Given the description of an element on the screen output the (x, y) to click on. 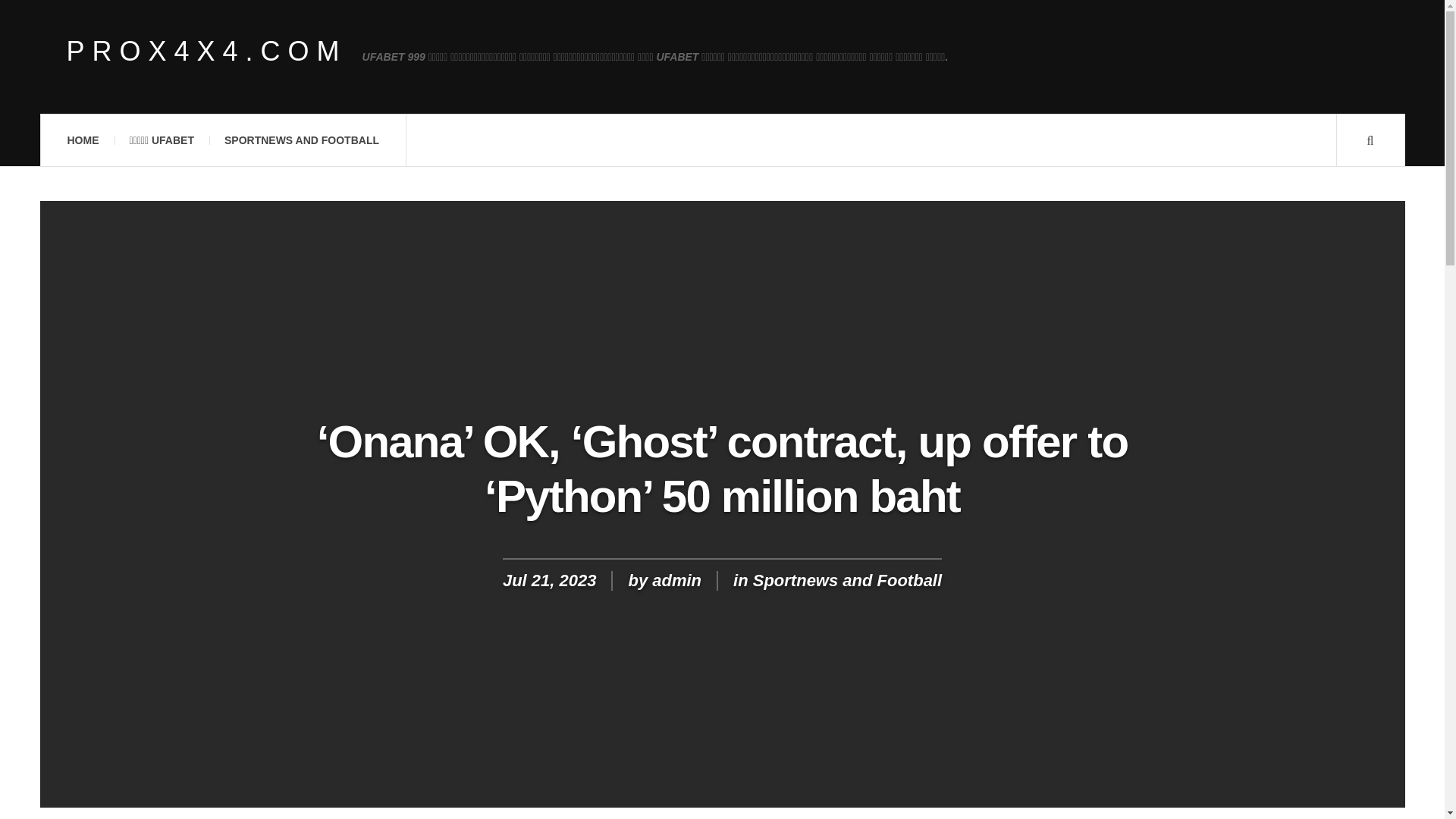
PROX4X4.COM (206, 51)
SPORTNEWS AND FOOTBALL (301, 140)
HOME (81, 140)
prox4x4.com (206, 51)
View all posts in Sportnews and Football (847, 579)
admin (676, 579)
Sportnews and Football (847, 579)
